Given the description of an element on the screen output the (x, y) to click on. 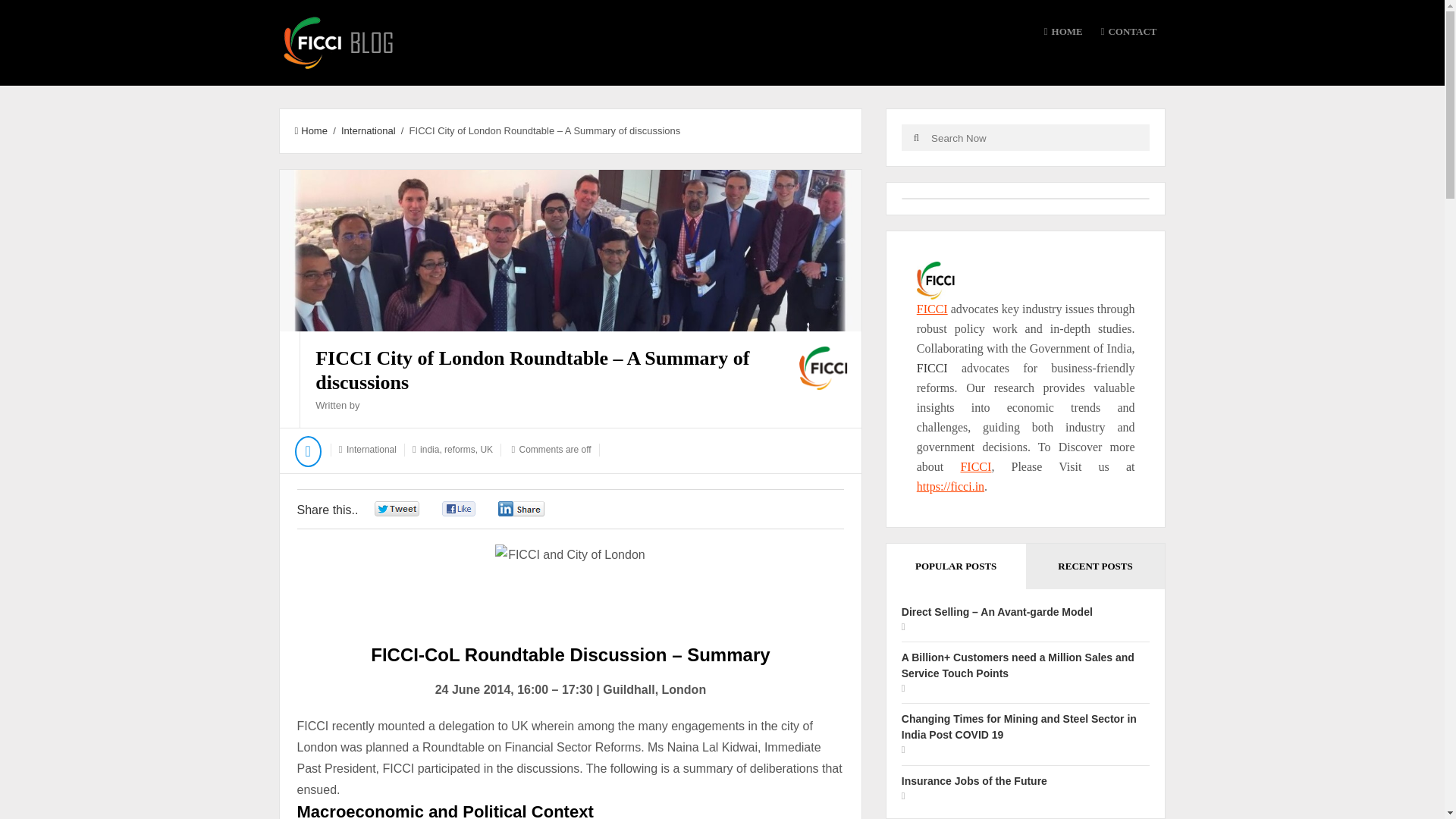
Search (916, 137)
reforms (460, 449)
FICCI (932, 367)
International (371, 449)
HOME (1063, 31)
india (429, 449)
POPULAR POSTS (956, 565)
RECENT POSTS (1096, 565)
FICCI (975, 466)
UK (486, 449)
CONTACT (1128, 31)
Insurance Jobs of the Future (973, 780)
International (368, 130)
Home (310, 130)
